Given the description of an element on the screen output the (x, y) to click on. 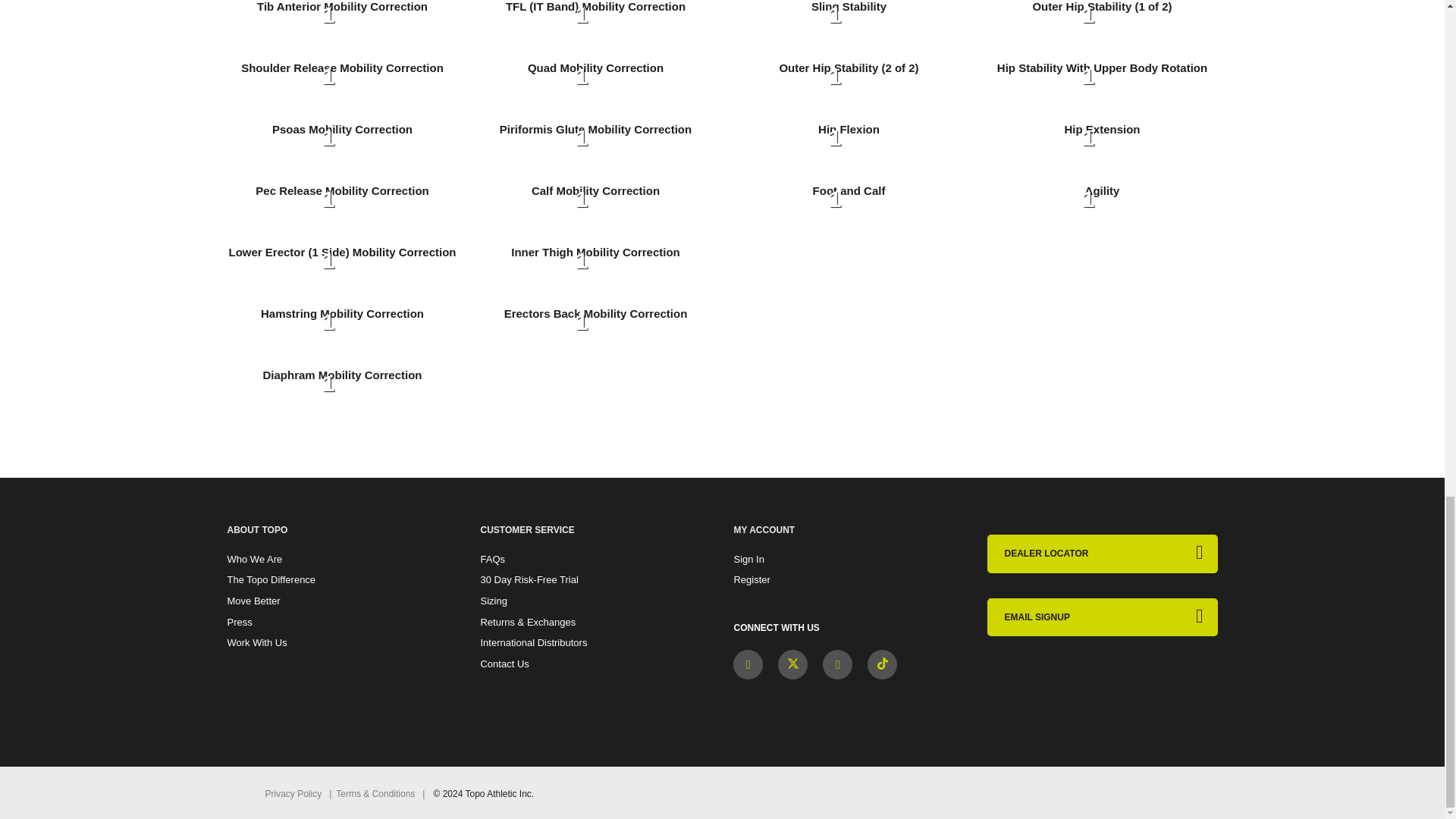
Topo Athletic (1072, 680)
